Given the description of an element on the screen output the (x, y) to click on. 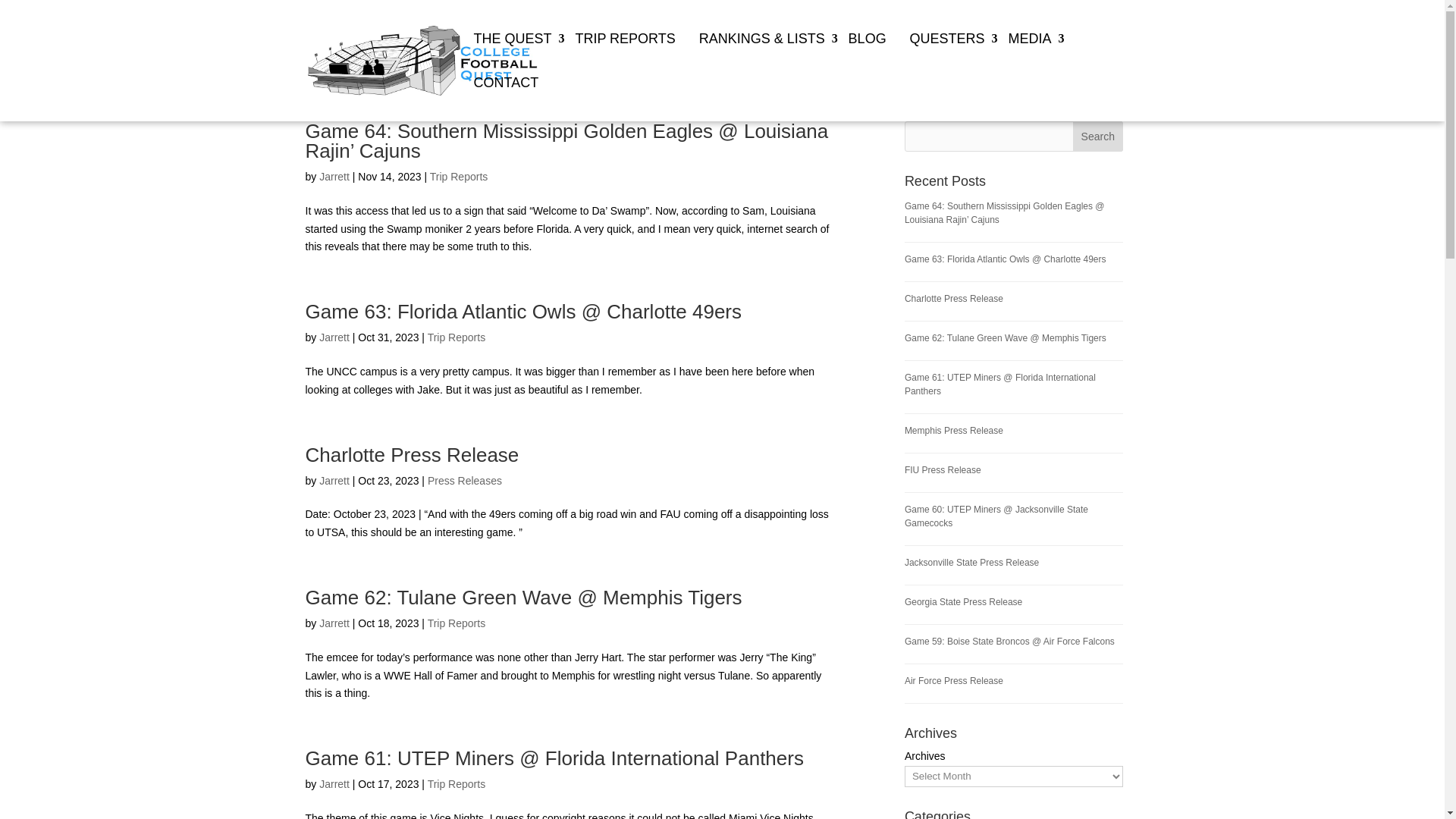
THE QUEST (513, 54)
Posts by Jarrett (333, 480)
MEDIA (1030, 54)
Posts by Jarrett (333, 176)
Posts by Jarrett (333, 623)
TRIP REPORTS (626, 54)
Posts by Jarrett (333, 337)
QUESTERS (949, 54)
CONTACT (507, 98)
Posts by Jarrett (333, 784)
BLOG (868, 54)
